Given the description of an element on the screen output the (x, y) to click on. 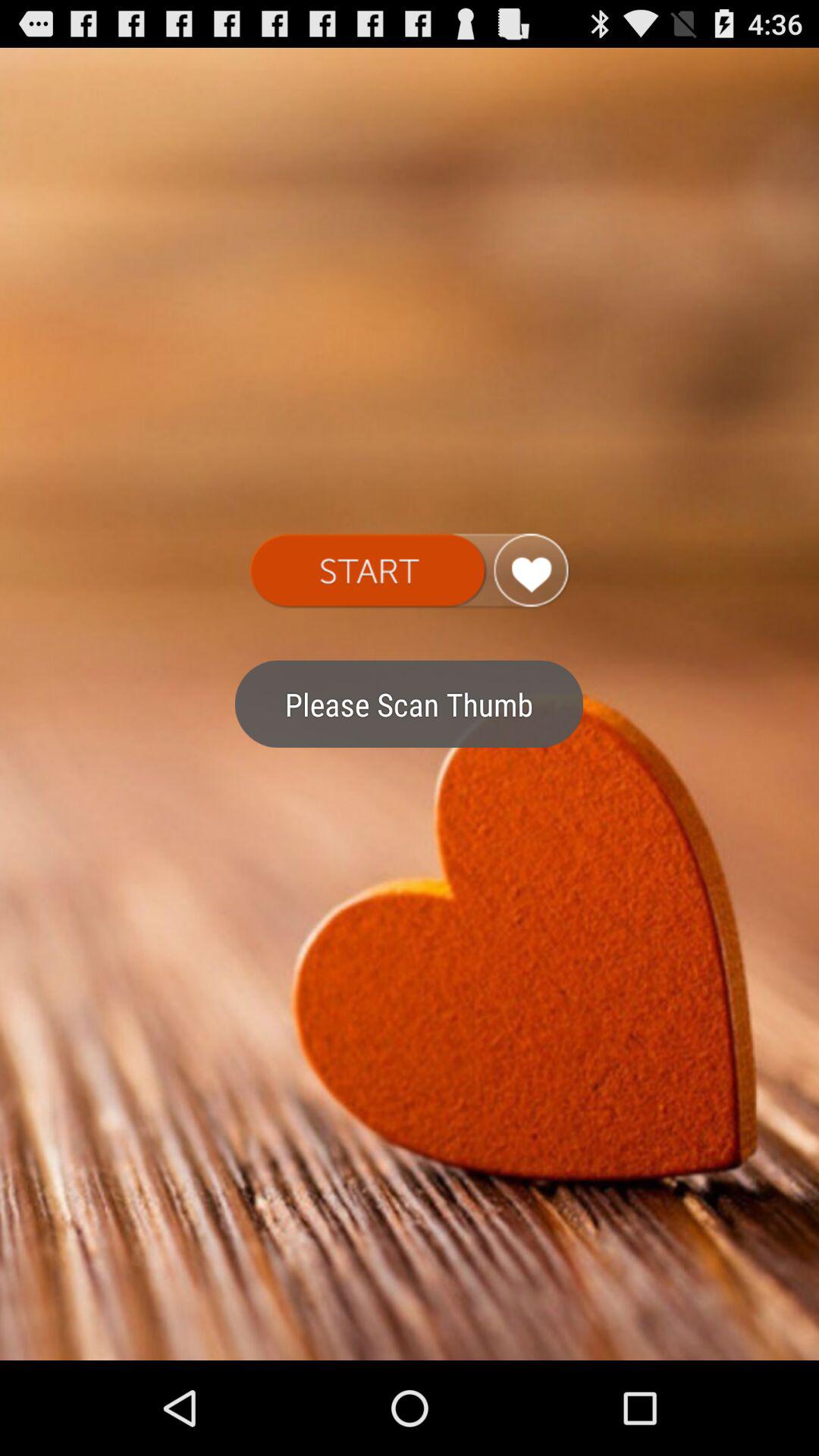
start option (408, 571)
